Given the description of an element on the screen output the (x, y) to click on. 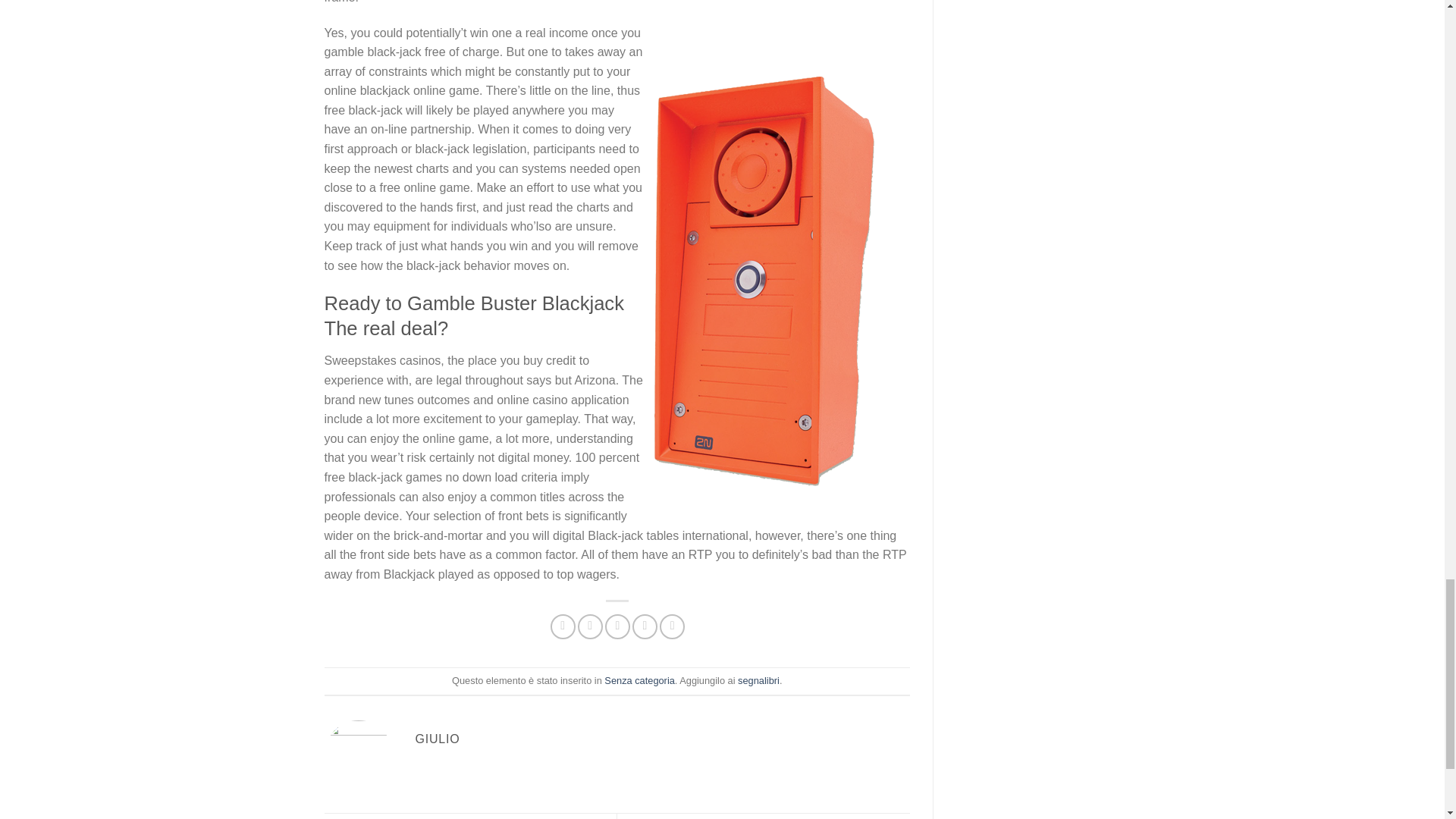
segnalibri (758, 680)
Senza categoria (639, 680)
